Given the description of an element on the screen output the (x, y) to click on. 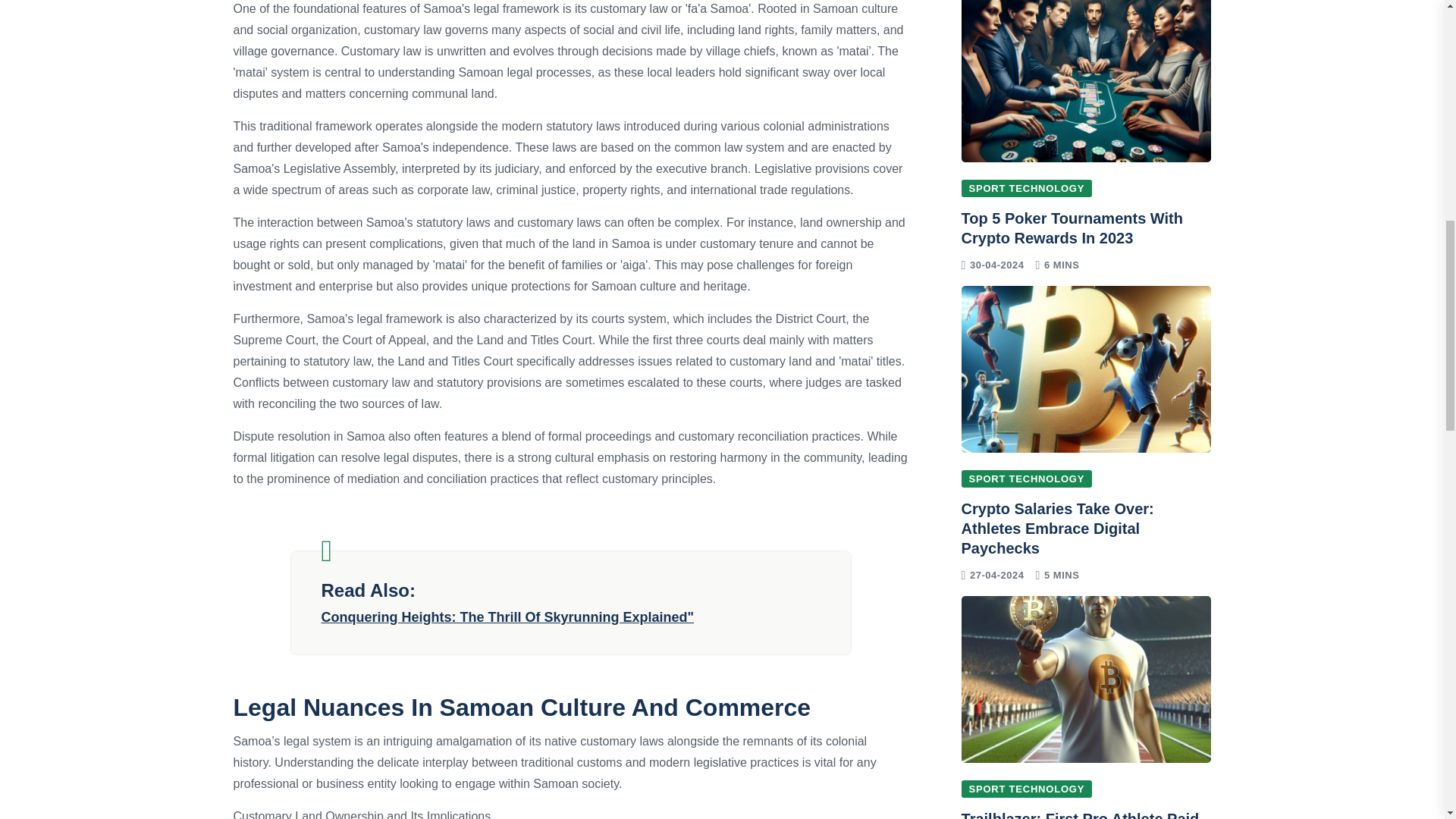
Conquering Heights: The Thrill Of Skyrunning Explained" (571, 617)
